Given the description of an element on the screen output the (x, y) to click on. 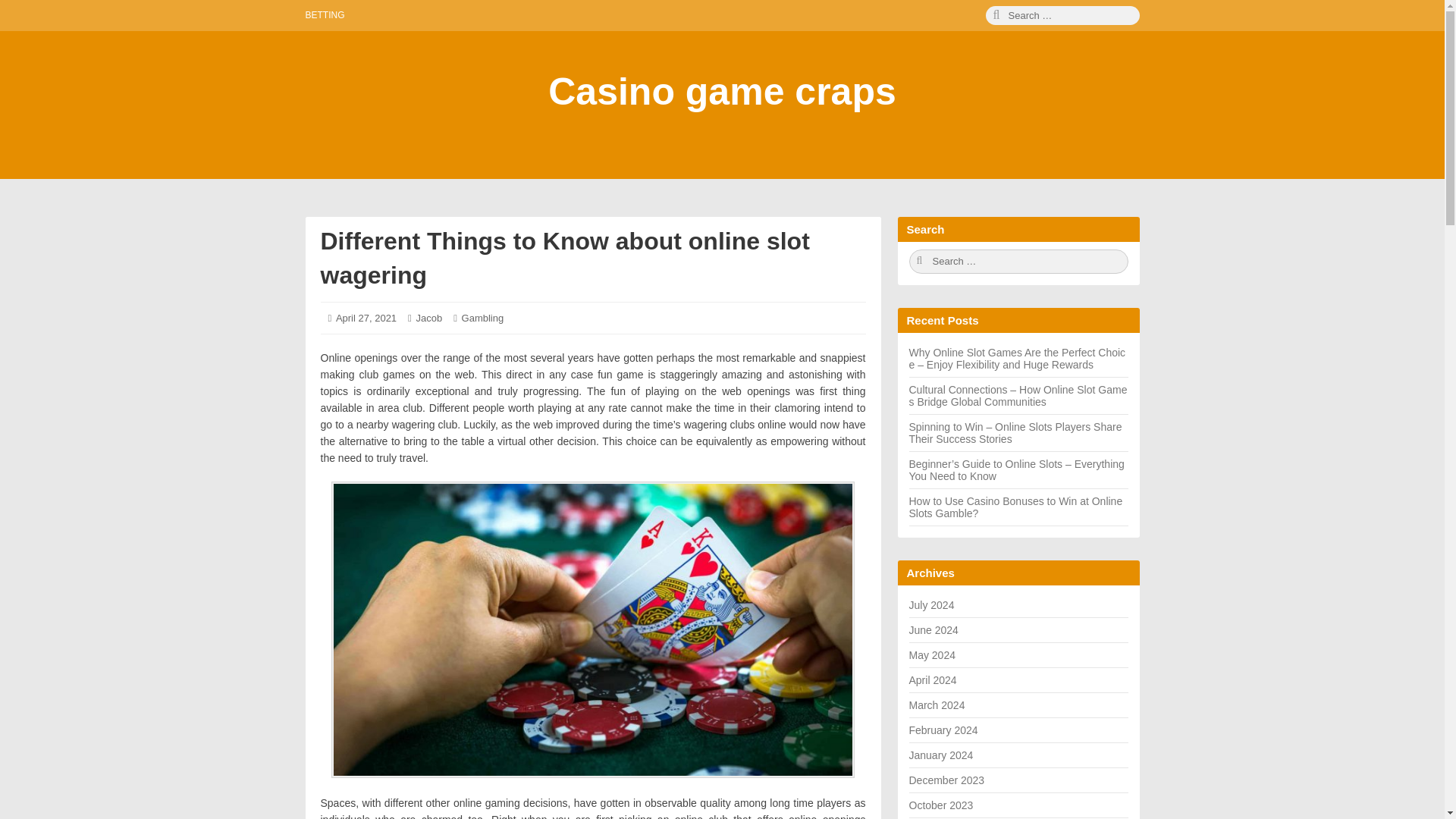
June 2024 (933, 630)
Jacob (428, 317)
Casino game craps (722, 91)
October 2023 (940, 805)
Gambling (482, 317)
March 2024 (935, 705)
Search (1017, 261)
Skip to content (19, 20)
July 2024 (930, 604)
April 2024 (932, 680)
